Given the description of an element on the screen output the (x, y) to click on. 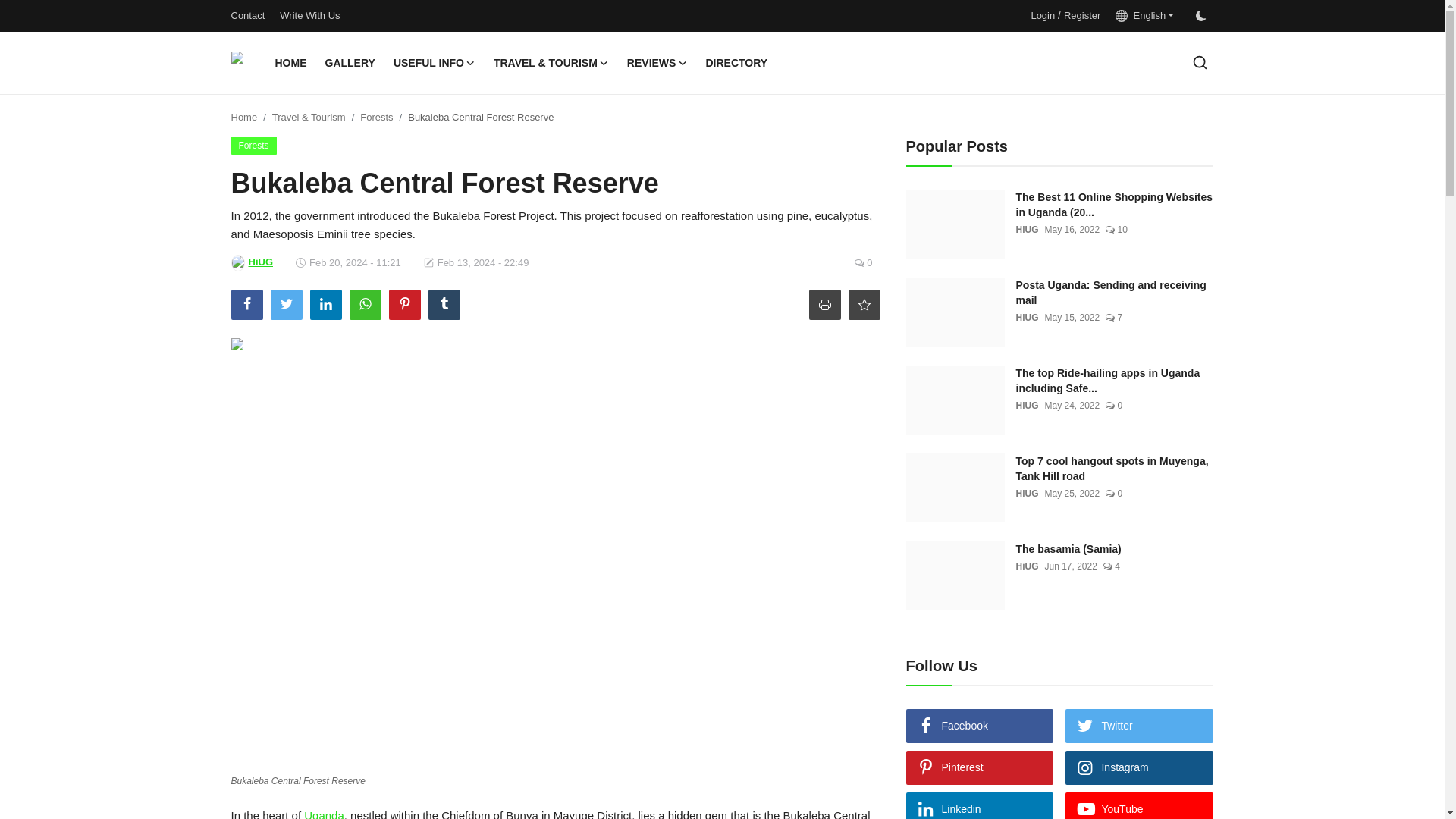
GALLERY (349, 62)
USEFUL INFO (434, 62)
Write With Us (309, 15)
  English (1143, 15)
Register (1082, 15)
Add to Reading List (863, 304)
Contact (247, 15)
Login (1042, 15)
REVIEWS (657, 62)
DIRECTORY (735, 62)
dark (1200, 15)
